Given the description of an element on the screen output the (x, y) to click on. 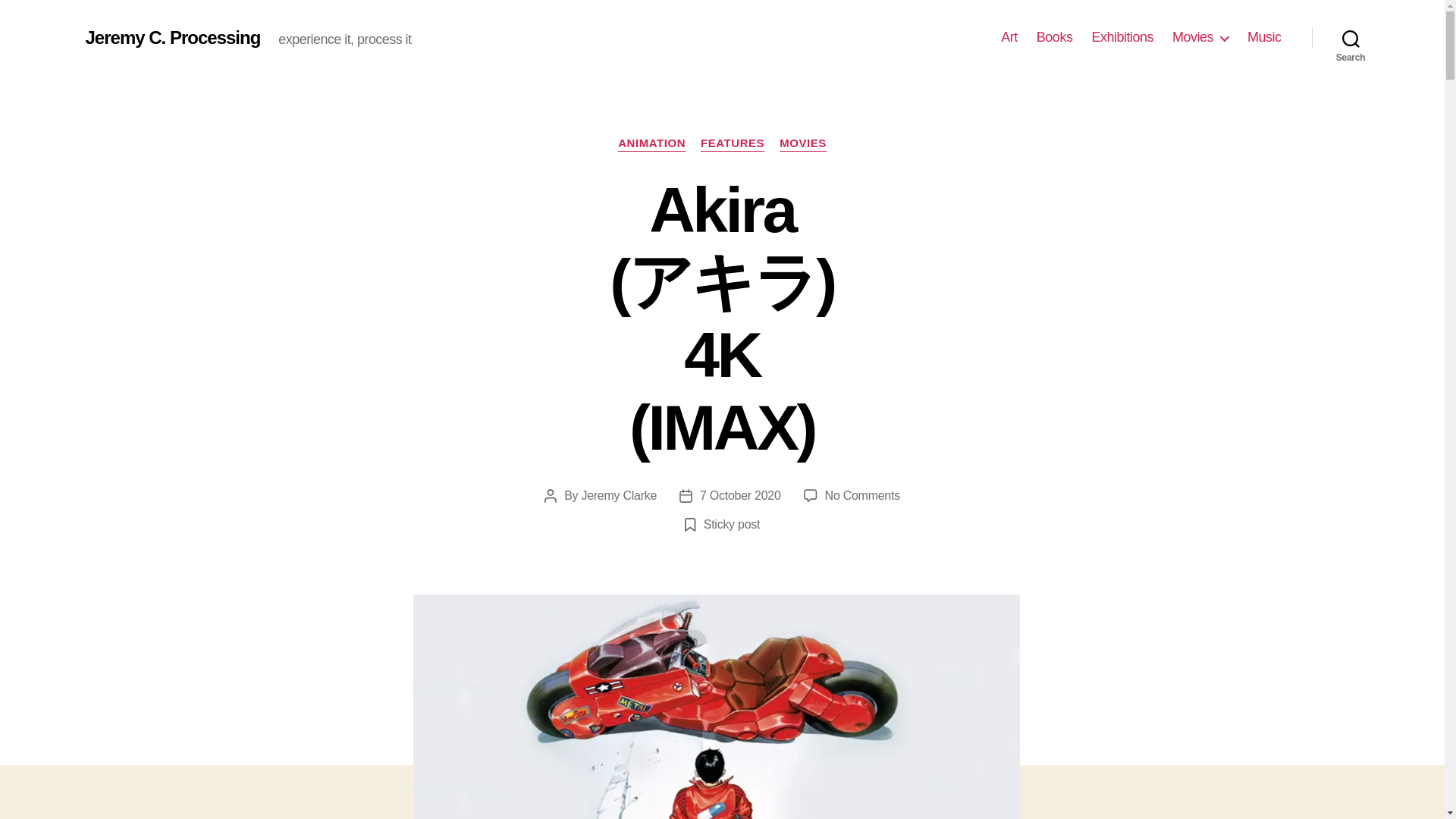
Exhibitions (1121, 37)
Books (1054, 37)
Art (1009, 37)
Movies (1200, 37)
Search (1350, 37)
MOVIES (802, 143)
Jeremy Clarke (618, 495)
ANIMATION (651, 143)
7 October 2020 (740, 495)
Music (1264, 37)
FEATURES (732, 143)
Jeremy C. Processing (172, 37)
